Given the description of an element on the screen output the (x, y) to click on. 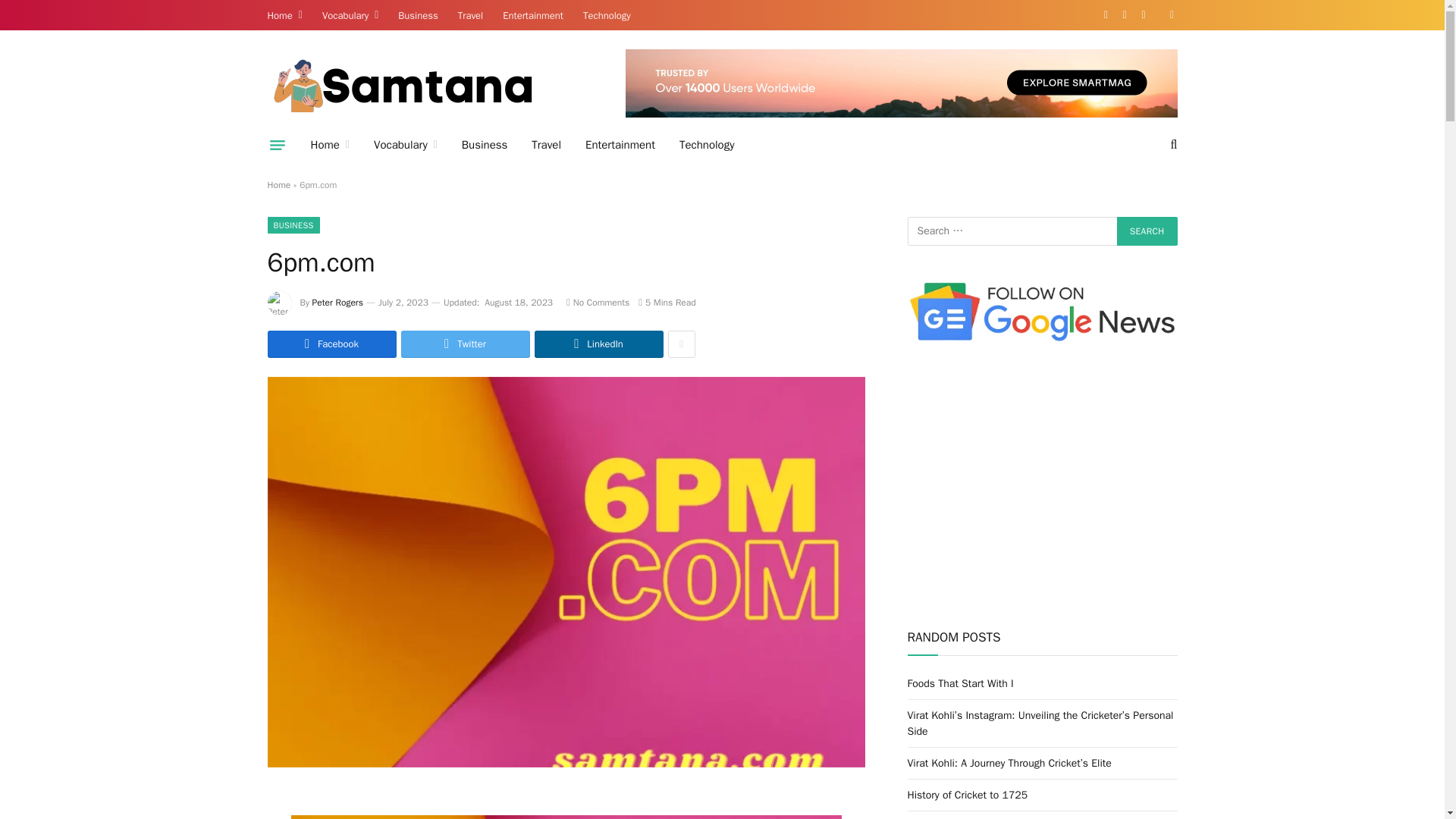
Posts by Peter Rogers (337, 302)
Entertainment (533, 15)
Entertainment (619, 144)
Business (417, 15)
Travel (546, 144)
Technology (606, 15)
Vocabulary (350, 15)
Search (1146, 231)
Search (1146, 231)
Travel (470, 15)
